Given the description of an element on the screen output the (x, y) to click on. 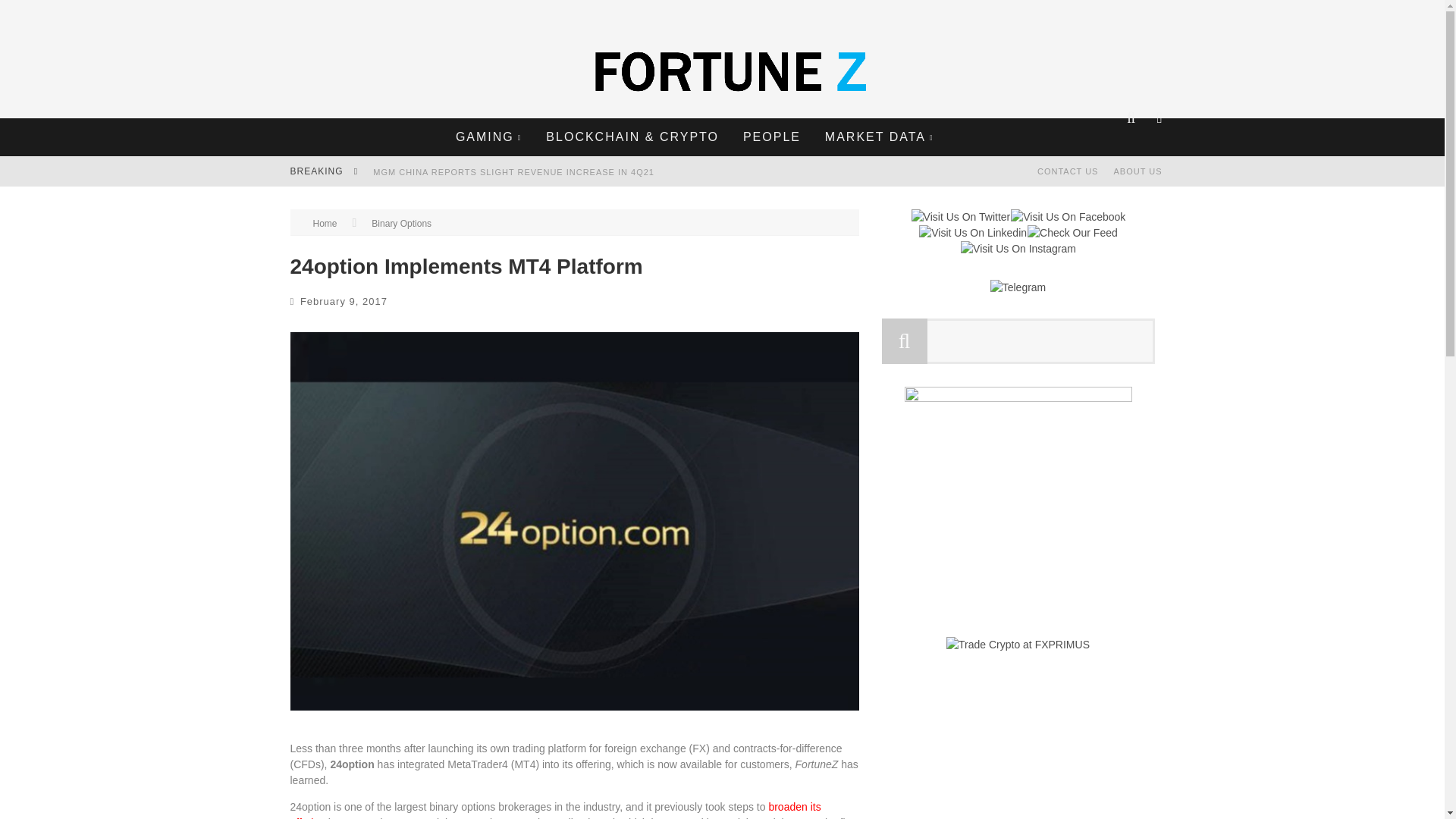
Visit Us On Linkedin (972, 232)
View all posts in Binary Options (400, 223)
Visit Us On Facebook (1067, 216)
Check Our Feed (1072, 232)
Log In (721, 463)
MGM China Reports Slight Revenue Increase In 4Q21 (512, 171)
Visit Us On Twitter (960, 216)
PEOPLE (772, 136)
GAMING (489, 136)
Visit Us On Instagram (1017, 248)
